Given the description of an element on the screen output the (x, y) to click on. 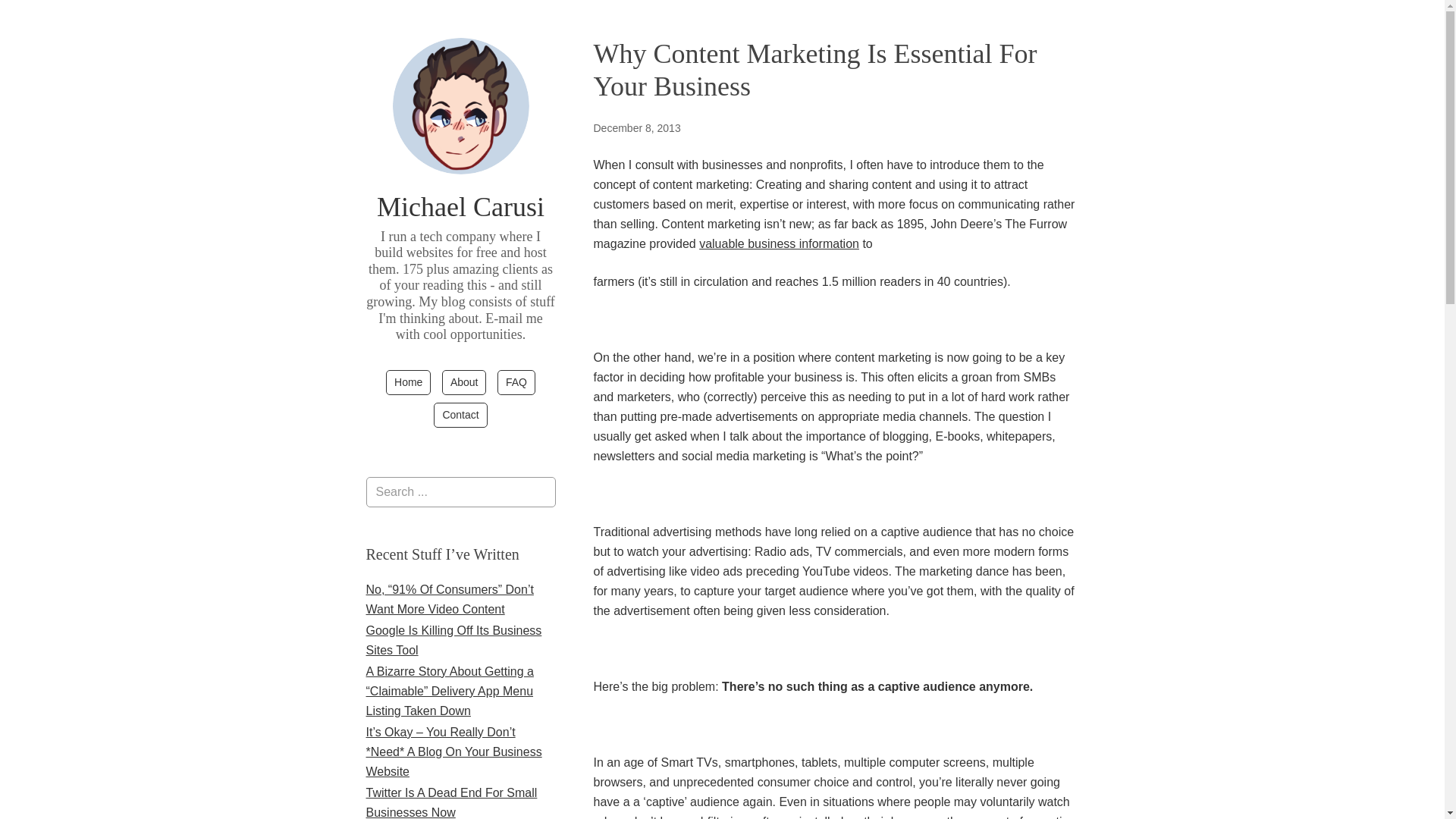
Contact (459, 414)
Michael Carusi (460, 206)
valuable business information (778, 243)
FAQ (516, 382)
Michael Carusi (460, 206)
Twitter Is A Dead End For Small Businesses Now (451, 802)
Search for: (459, 491)
Sunday, December 8, 2013, 11:06 am (635, 128)
Google Is Killing Off Its Business Sites Tool (453, 640)
About (464, 382)
Home (407, 382)
